Given the description of an element on the screen output the (x, y) to click on. 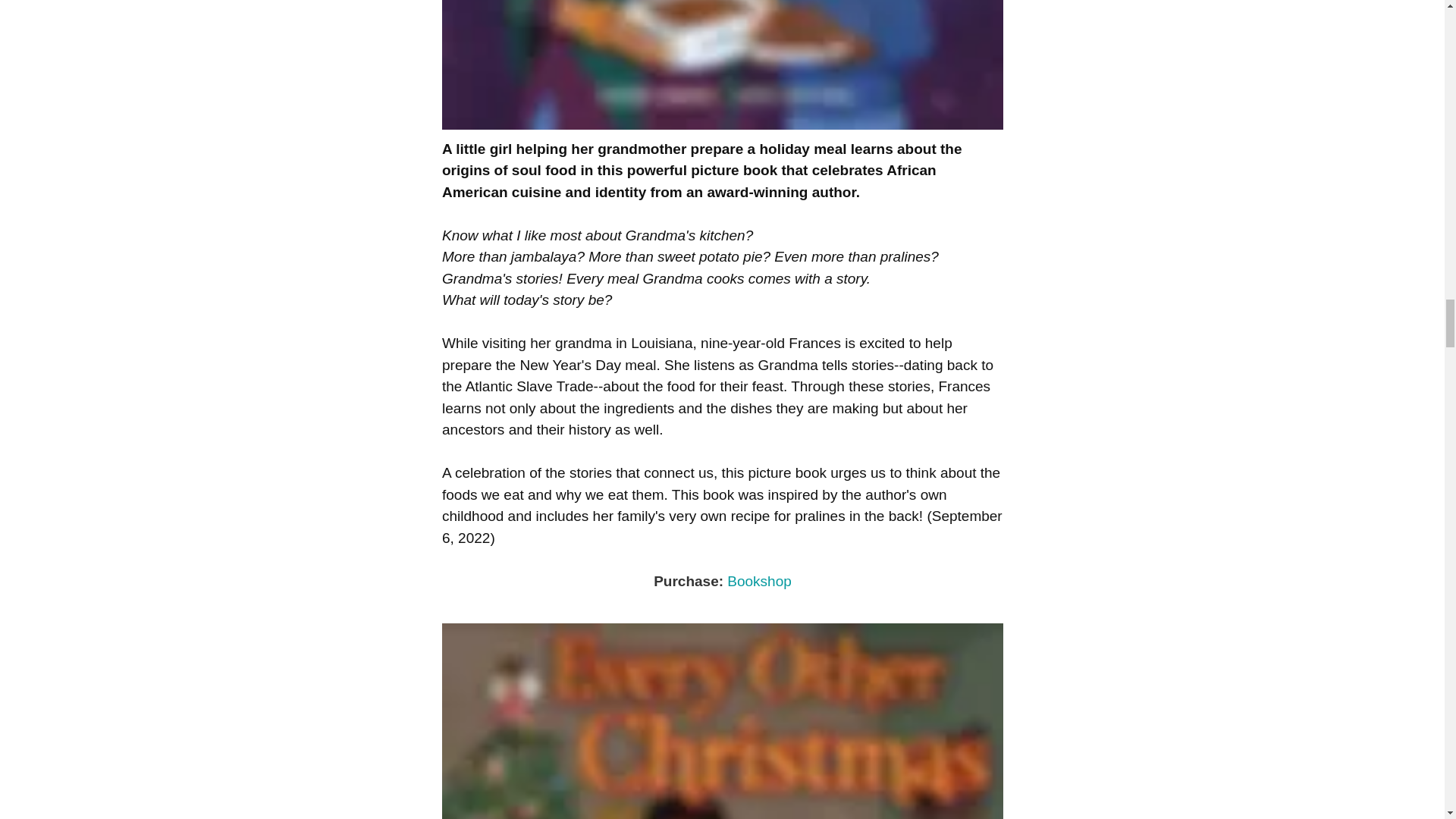
Bookshop (759, 580)
